Given the description of an element on the screen output the (x, y) to click on. 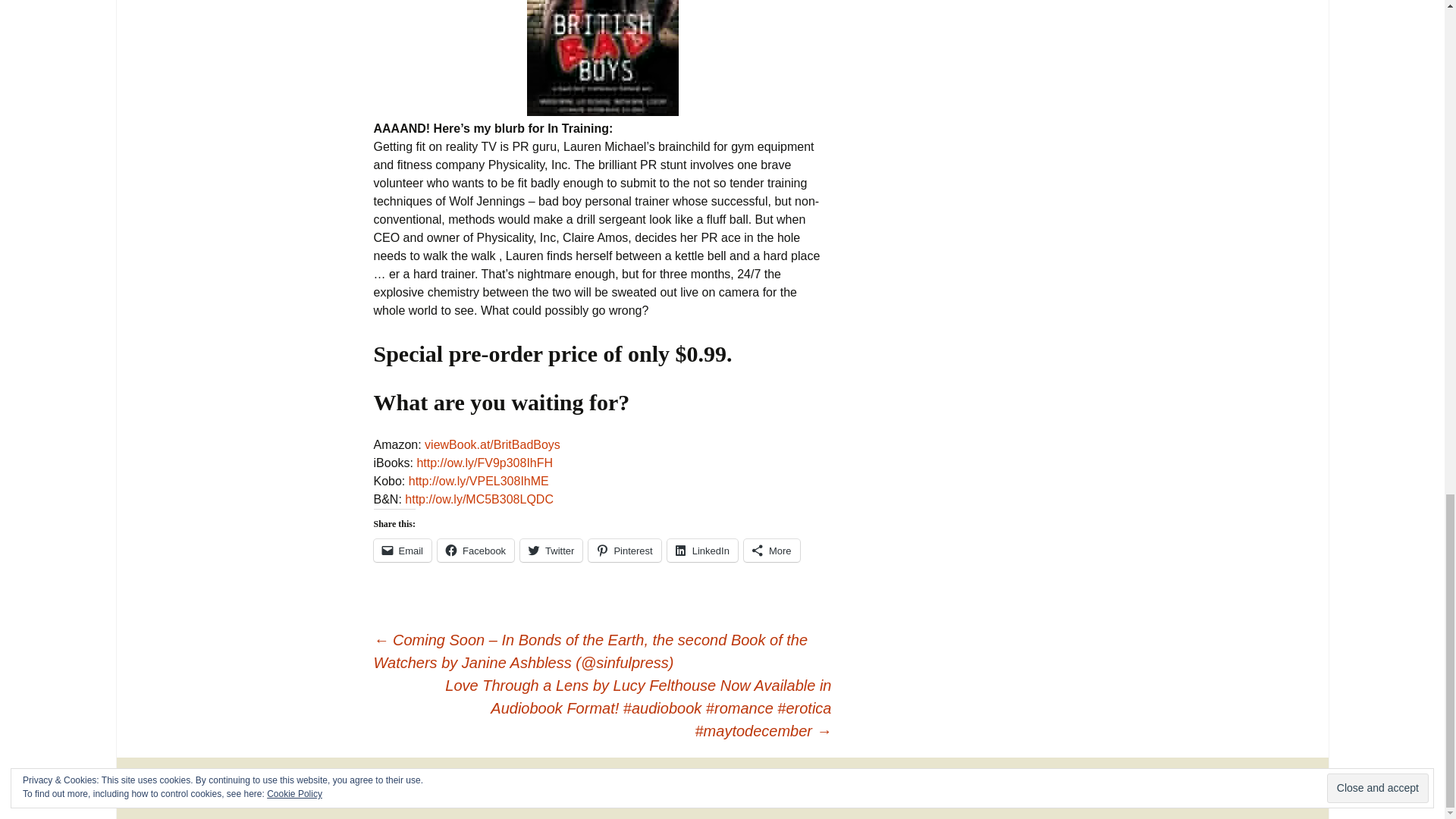
Facebook (475, 549)
Click to share on LinkedIn (702, 549)
Email (401, 549)
Twitter (550, 549)
Click to share on Twitter (550, 549)
More (771, 549)
Click to email a link to a friend (401, 549)
Pinterest (624, 549)
Click to share on Facebook (475, 549)
LinkedIn (702, 549)
Click to share on Pinterest (624, 549)
